Given the description of an element on the screen output the (x, y) to click on. 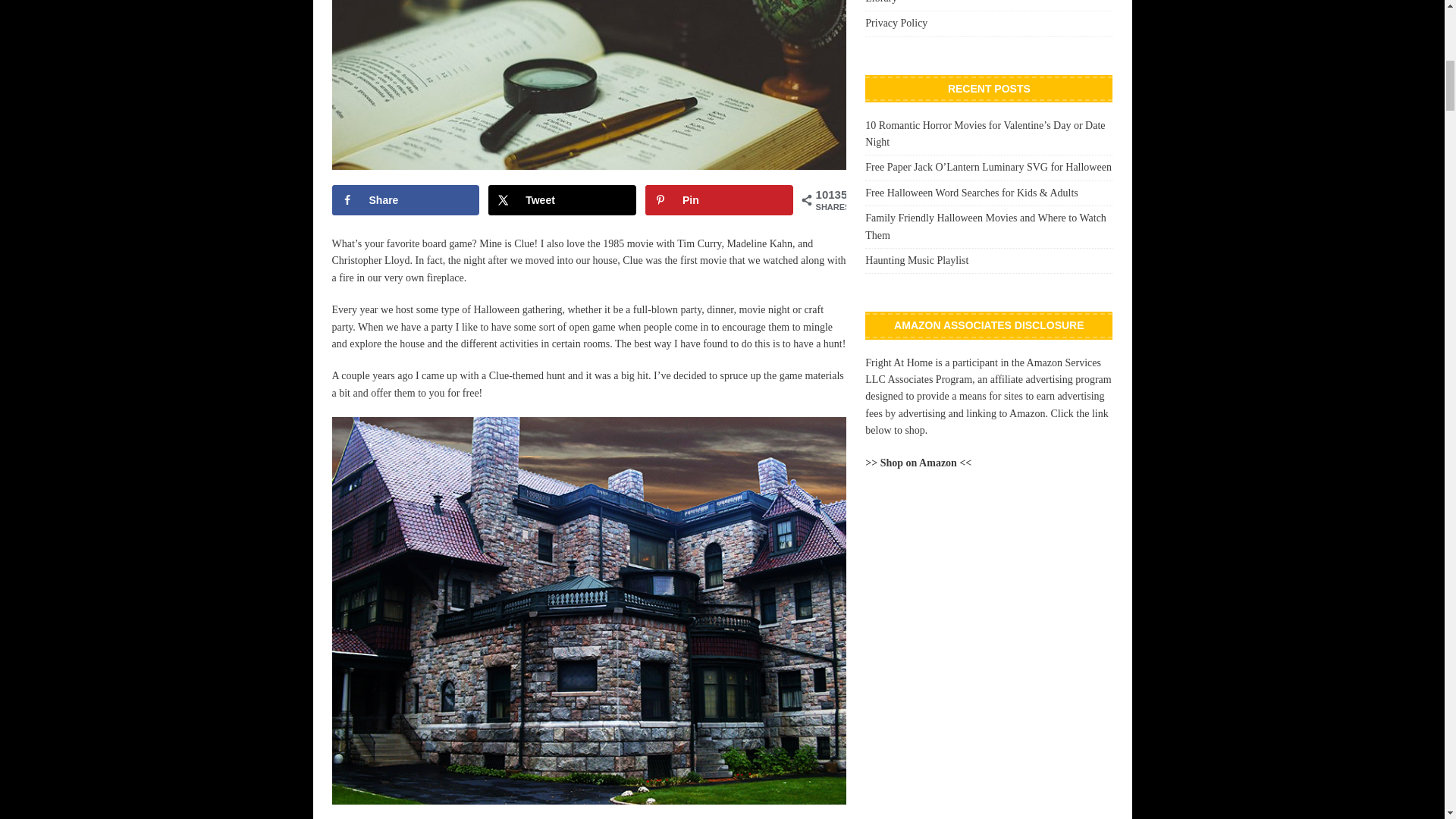
Share on X (561, 200)
joao-silas-74207-unsplash (588, 84)
Share on Facebook (405, 200)
Save to Pinterest (719, 200)
